Given the description of an element on the screen output the (x, y) to click on. 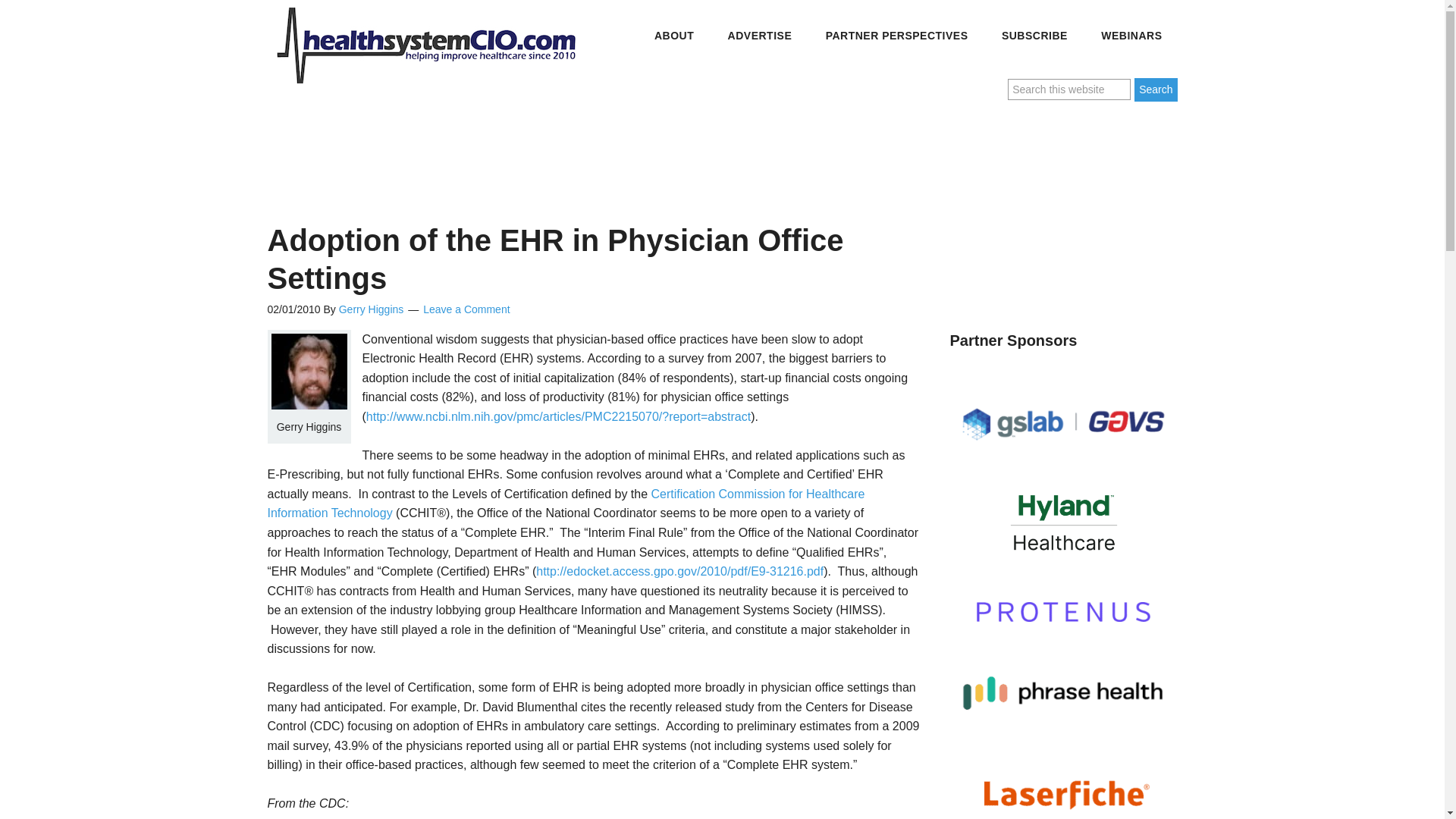
PARTNER PERSPECTIVES (897, 35)
WEBINARS (1131, 35)
ABOUT (674, 35)
Search (1155, 89)
3rd party ad content (547, 149)
Search (1155, 89)
Search (1155, 89)
SUBSCRIBE (1035, 35)
ADVERTISE (760, 35)
HEALTHSYSTEMCIO.COM (425, 45)
3rd party ad content (1062, 209)
